Given the description of an element on the screen output the (x, y) to click on. 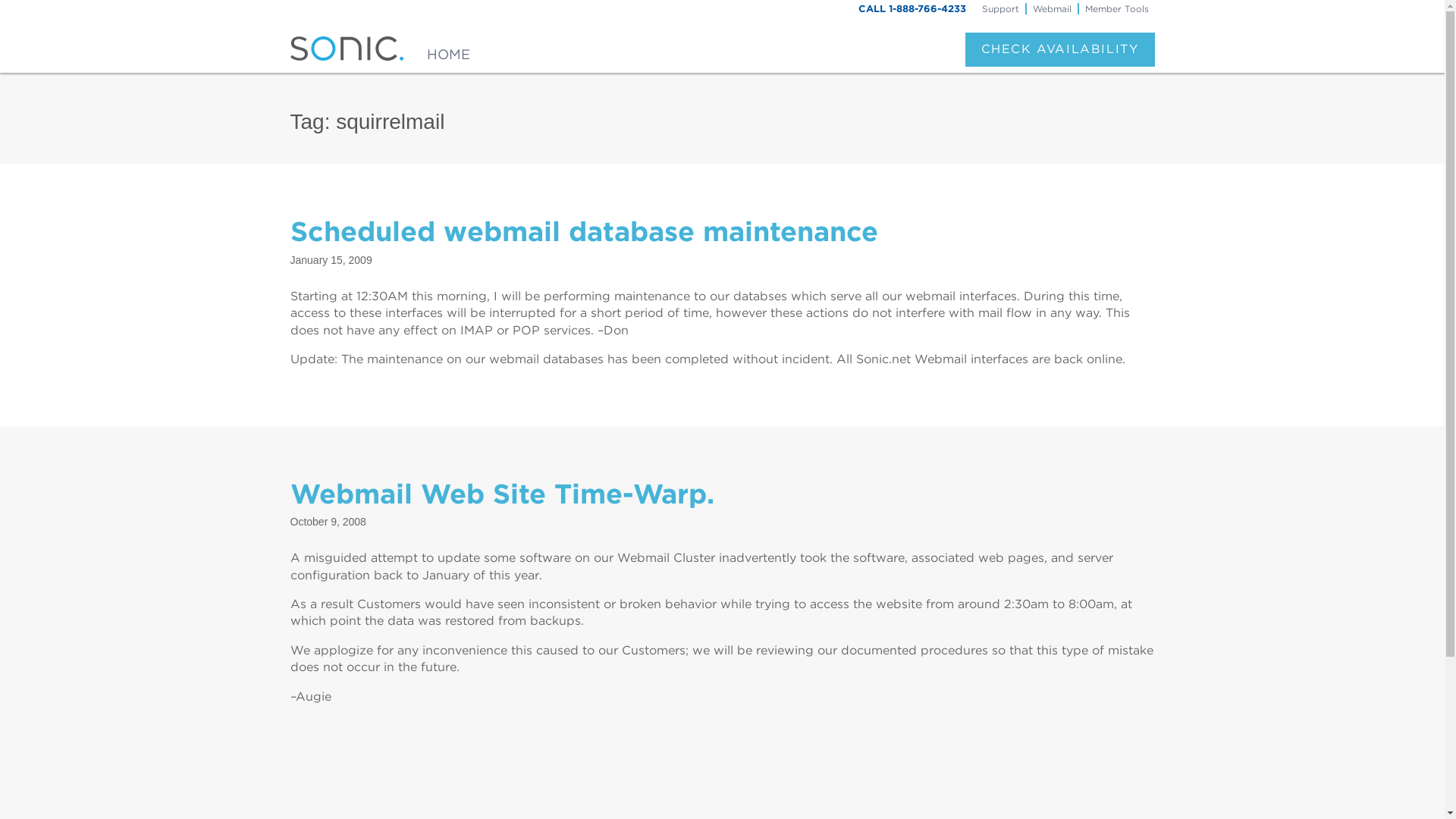
HOME (447, 48)
Go to Sonic.com (447, 48)
January 15, 2009 (330, 259)
Scheduled webmail database maintenance (583, 231)
Webmail Web Site Time-Warp. (501, 493)
CALL 1-888-766-4233 (912, 8)
Support (1000, 8)
Webmail (1051, 8)
CHECK AVAILABILITY (1059, 49)
October 9, 2008 (327, 521)
